Given the description of an element on the screen output the (x, y) to click on. 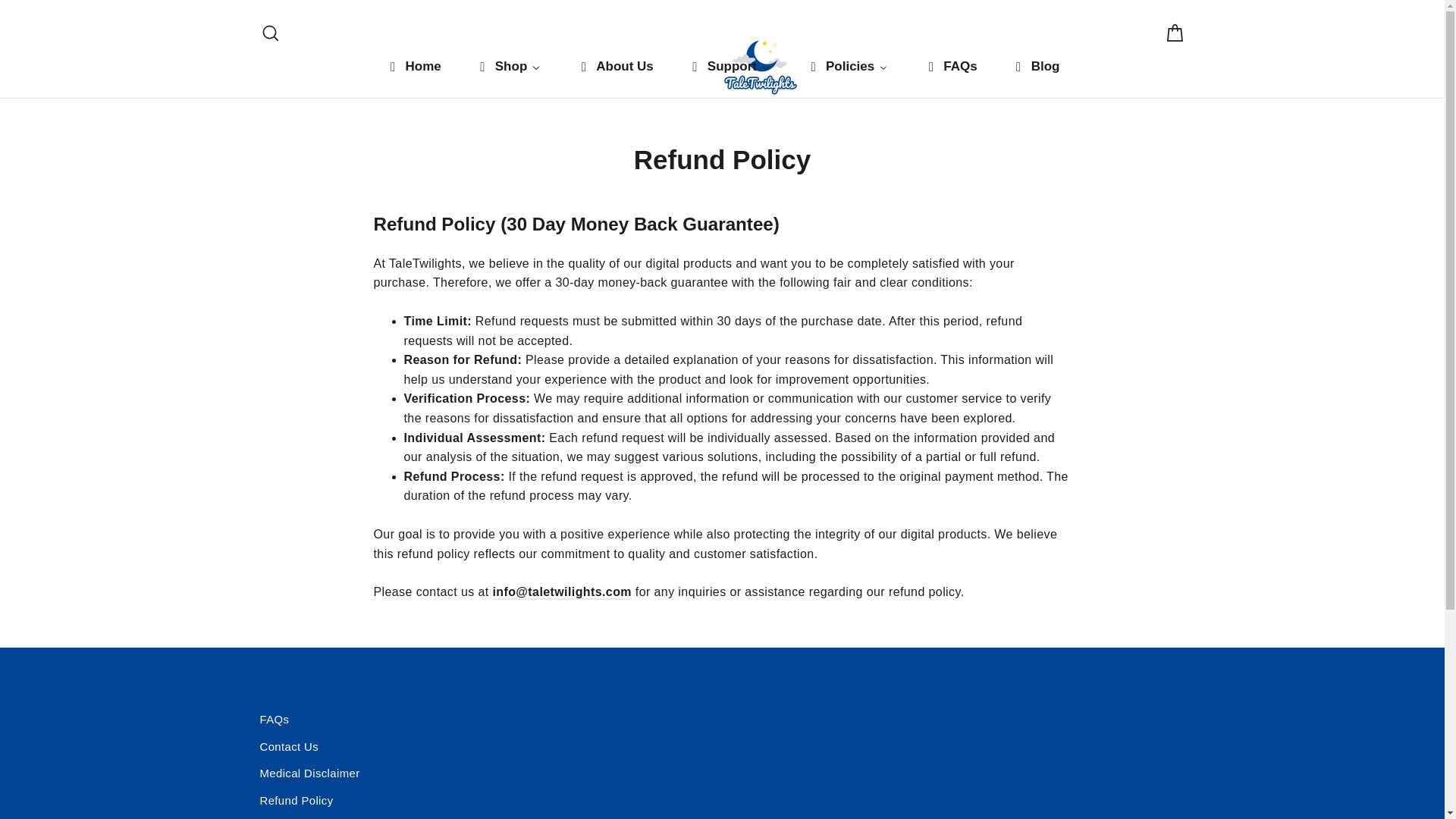
Support (729, 66)
Shop (508, 66)
About Us (614, 66)
Home (269, 33)
Policies (413, 66)
icon-search (847, 66)
Cart (270, 33)
